Given the description of an element on the screen output the (x, y) to click on. 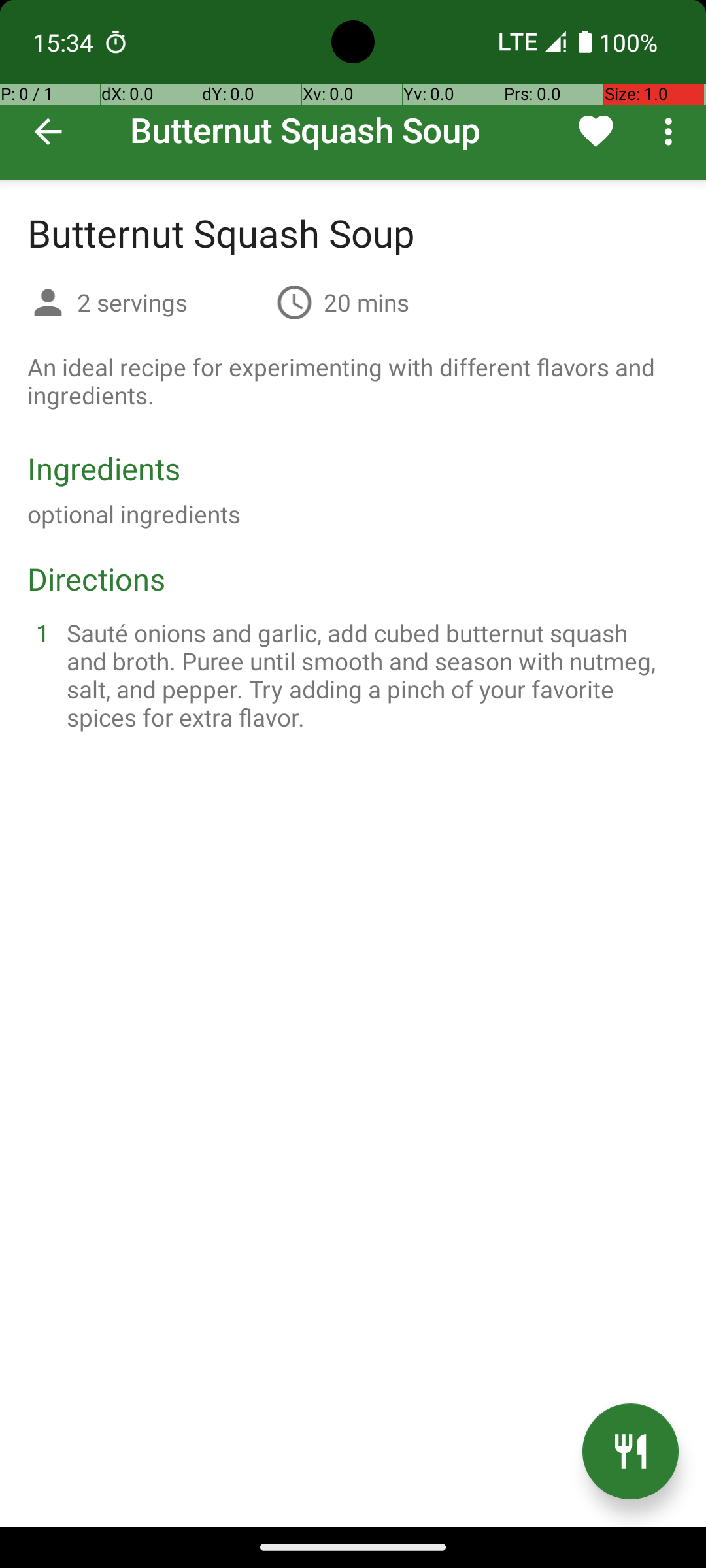
Sauté onions and garlic, add cubed butternut squash and broth. Puree until smooth and season with nutmeg, salt, and pepper. Try adding a pinch of your favorite spices for extra flavor. Element type: android.widget.TextView (368, 674)
